Given the description of an element on the screen output the (x, y) to click on. 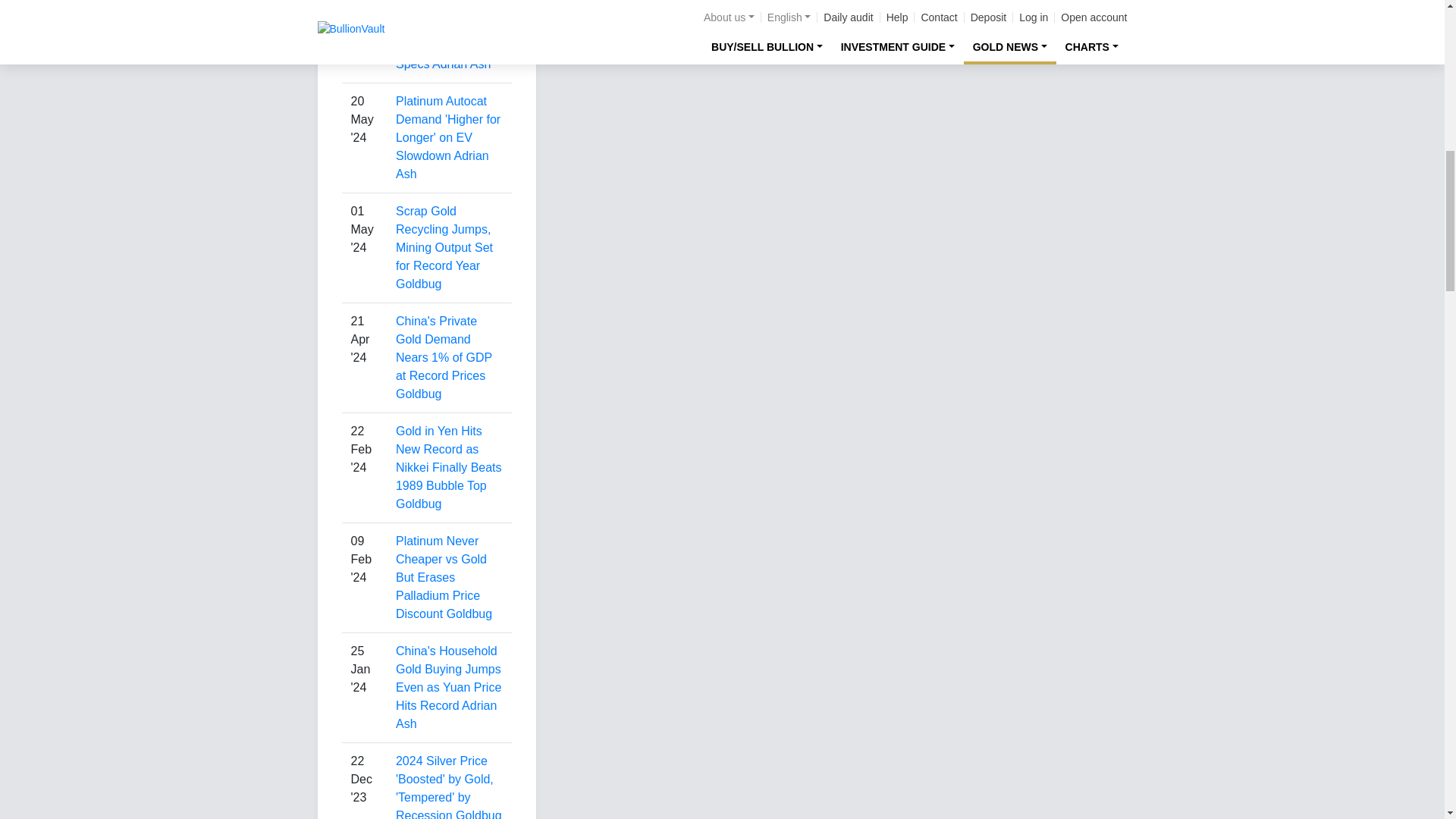
View user profile. (419, 393)
View user profile. (419, 283)
View user profile. (419, 503)
View user profile. (478, 814)
View user profile. (446, 714)
View user profile. (442, 164)
View user profile. (469, 613)
View user profile. (461, 63)
